Given the description of an element on the screen output the (x, y) to click on. 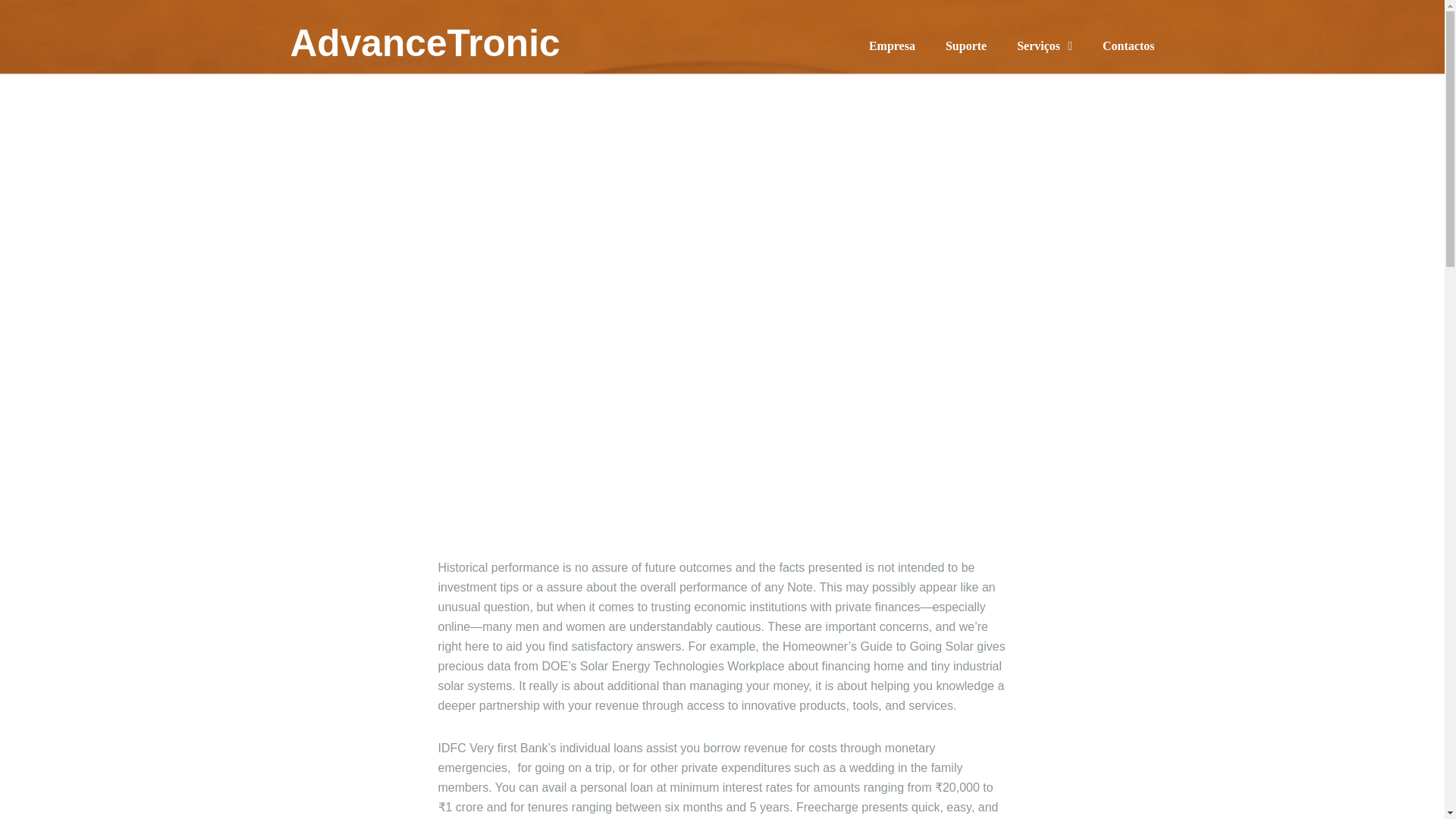
Suporte (965, 45)
Empresa (892, 45)
AdvanceTronic (425, 43)
AdvanceTronic (425, 43)
Contactos (1128, 45)
